Given the description of an element on the screen output the (x, y) to click on. 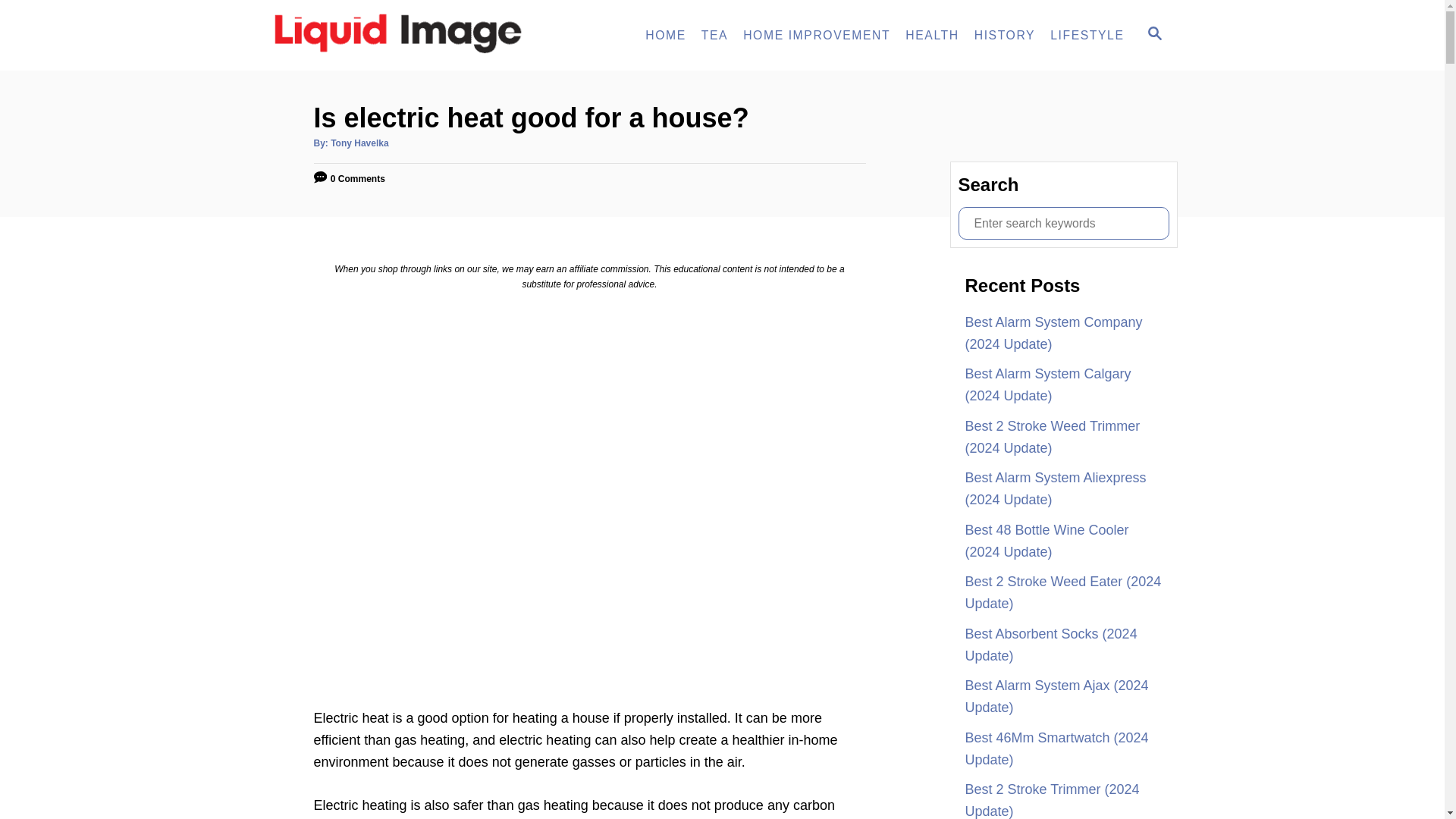
Tony Havelka (359, 143)
Liquid Image (403, 35)
HOME (665, 35)
HOME IMPROVEMENT (816, 35)
HISTORY (1004, 35)
LIFESTYLE (1086, 35)
HEALTH (932, 35)
MAGNIFYING GLASS (1153, 33)
TEA (714, 35)
